Given the description of an element on the screen output the (x, y) to click on. 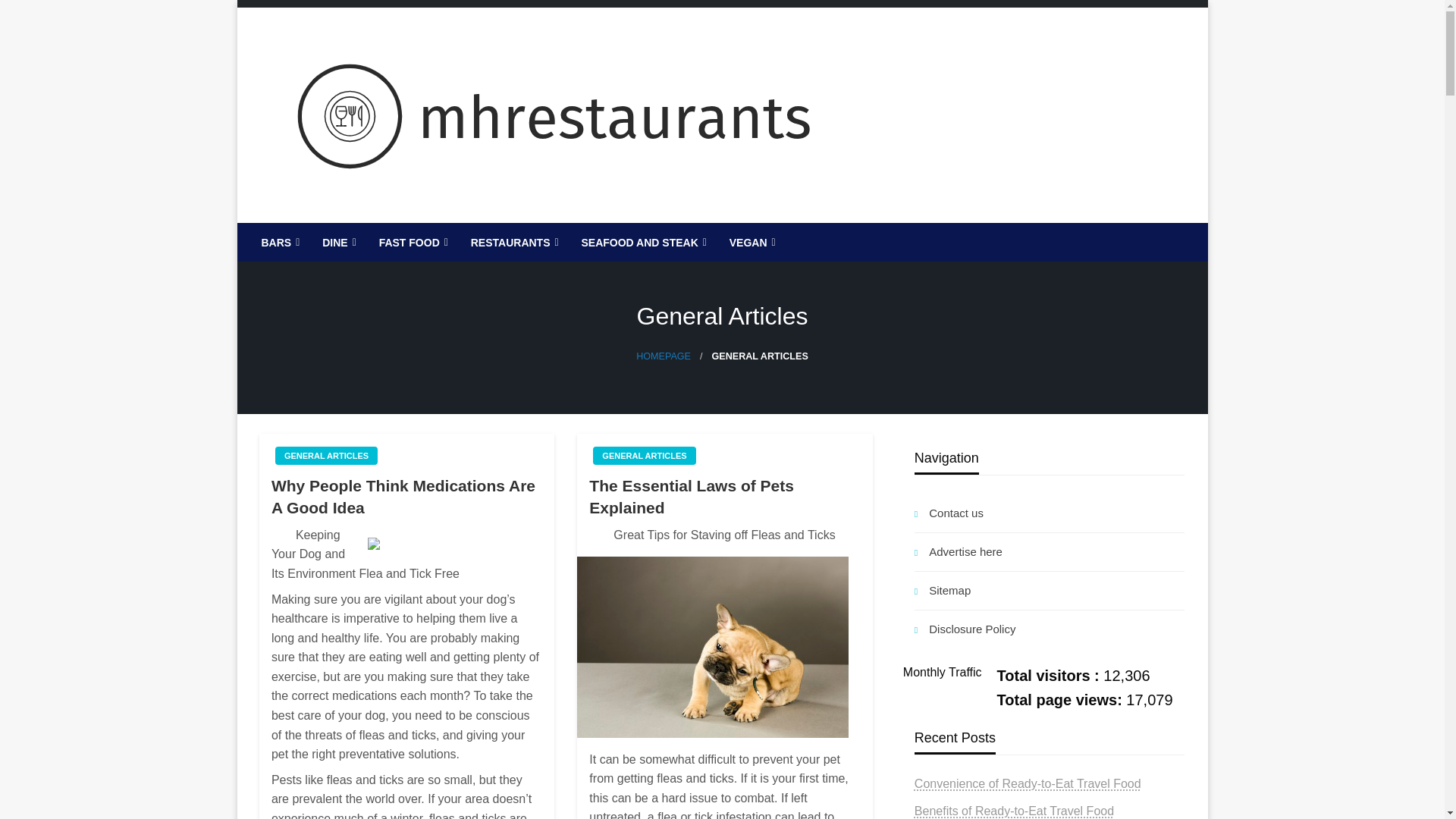
DINE (336, 242)
VEGAN (751, 242)
HOMEPAGE (663, 356)
Homepage (663, 356)
SEAFOOD AND STEAK (642, 242)
MHRESTAURANTS (398, 234)
GENERAL ARTICLES (326, 455)
FAST FOOD (412, 242)
RESTAURANTS (513, 242)
Why People Think Medications Are A Good Idea (405, 497)
BARS (279, 242)
